Given the description of an element on the screen output the (x, y) to click on. 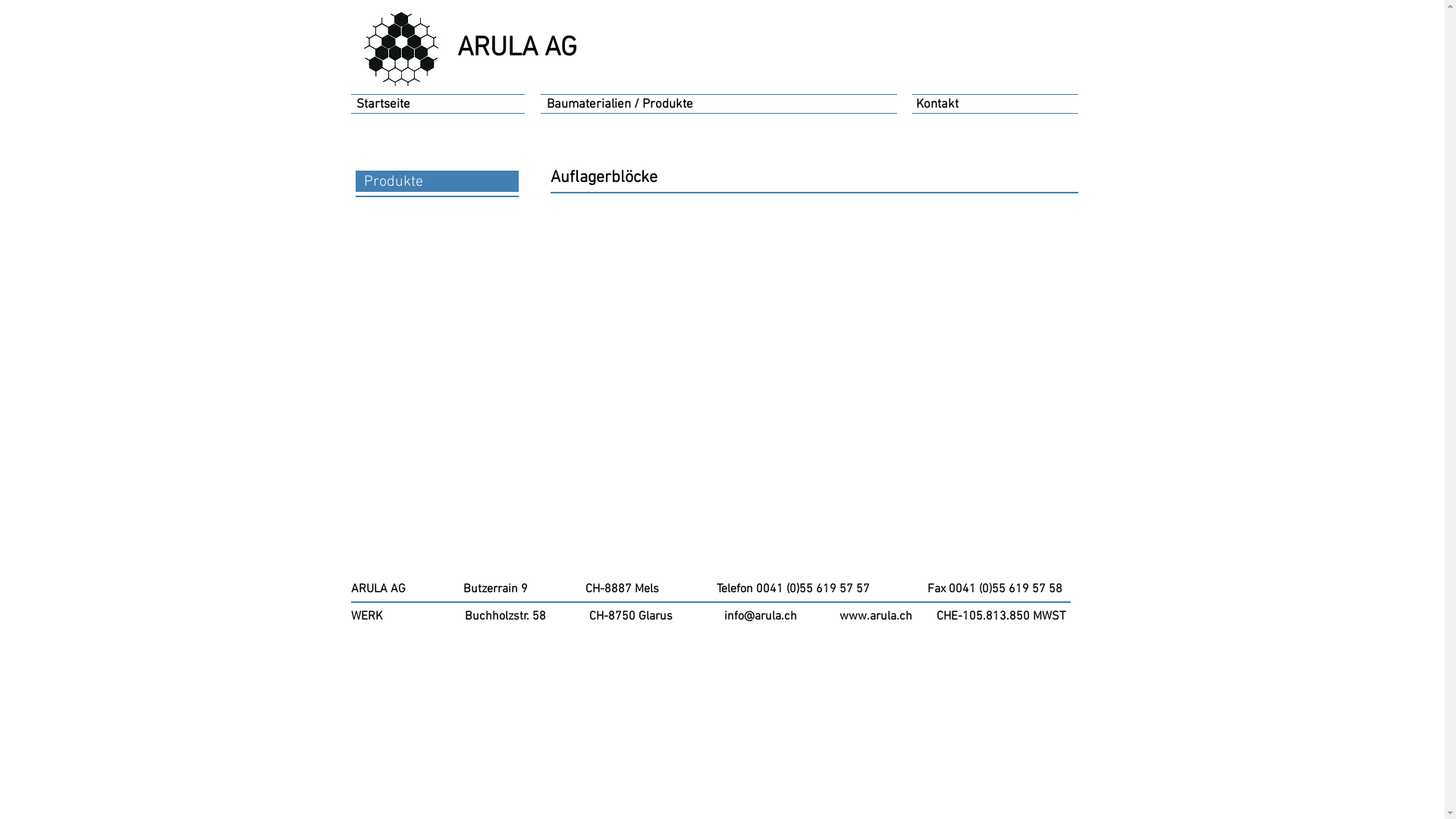
www.arula.ch Element type: text (874, 616)
Baumaterialien / Produkte Element type: text (619, 105)
Kontakt Element type: text (936, 105)
Startseite Element type: text (382, 105)
info@arula.ch Element type: text (759, 616)
